Given the description of an element on the screen output the (x, y) to click on. 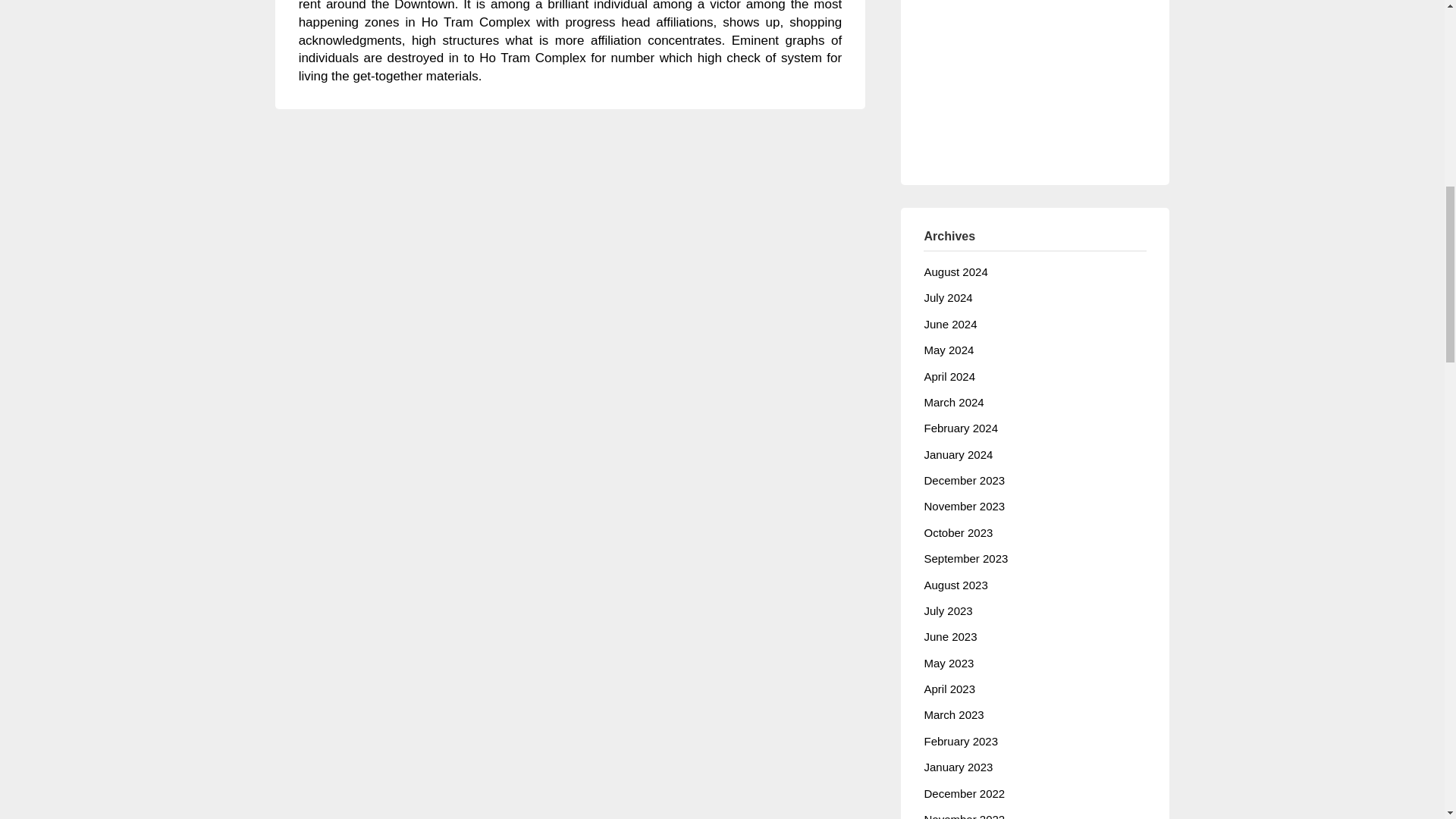
March 2024 (953, 401)
September 2023 (965, 558)
November 2023 (963, 505)
January 2024 (957, 454)
October 2023 (957, 532)
April 2023 (949, 688)
July 2024 (947, 297)
December 2022 (963, 793)
July 2023 (947, 610)
August 2024 (955, 271)
